Given the description of an element on the screen output the (x, y) to click on. 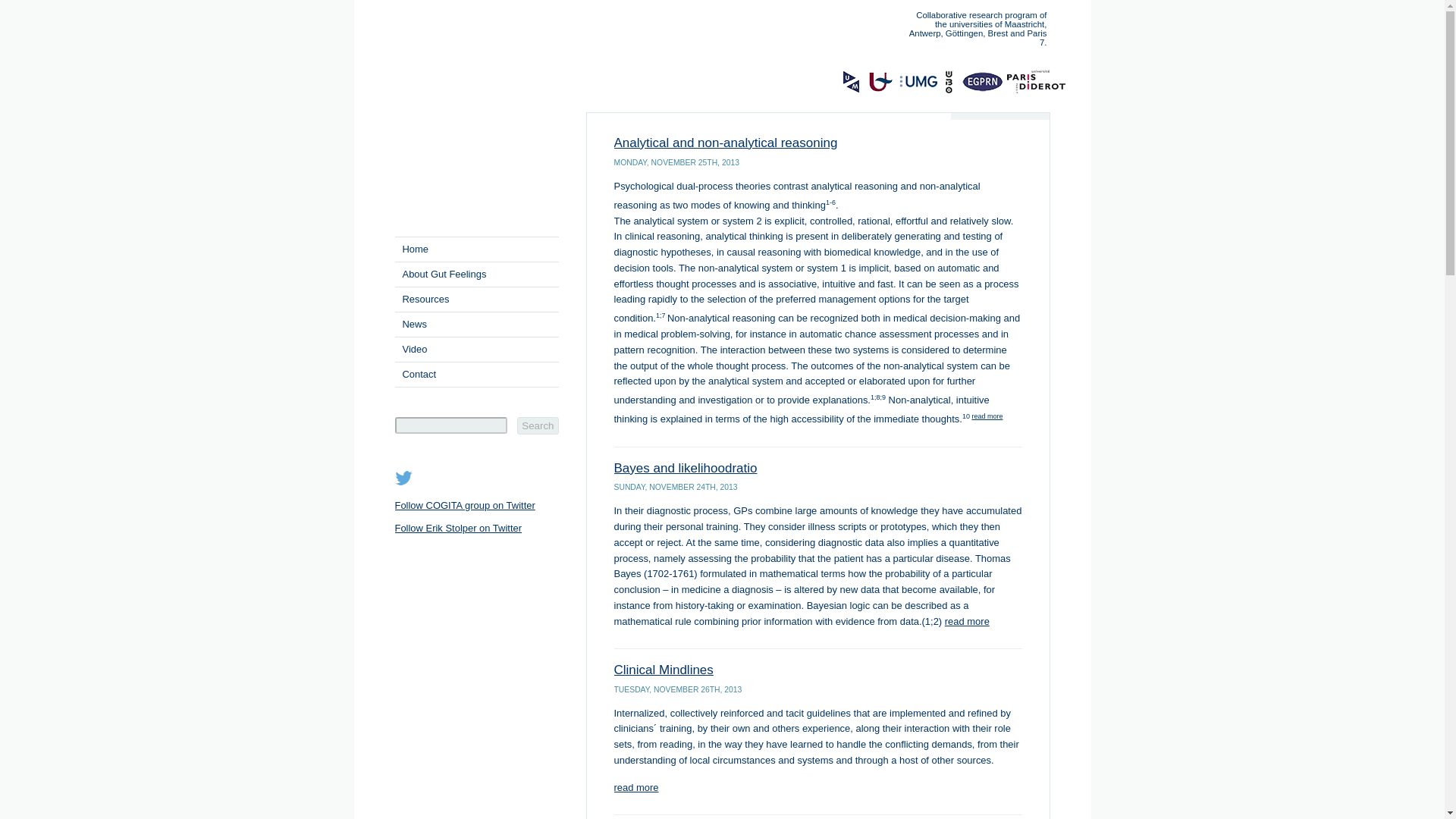
Permalink to Clinical Mindlines (663, 669)
read more (636, 787)
read more (967, 621)
Analytical and non-analytical reasoning (726, 142)
Resources (475, 299)
Clinical Mindlines (663, 669)
Permalink to Analytical and non-analytical reasoning (726, 142)
Bayes and likelihoodratio (685, 468)
read more (987, 416)
Permalink to Bayes and likelihoodratio (685, 468)
